Given the description of an element on the screen output the (x, y) to click on. 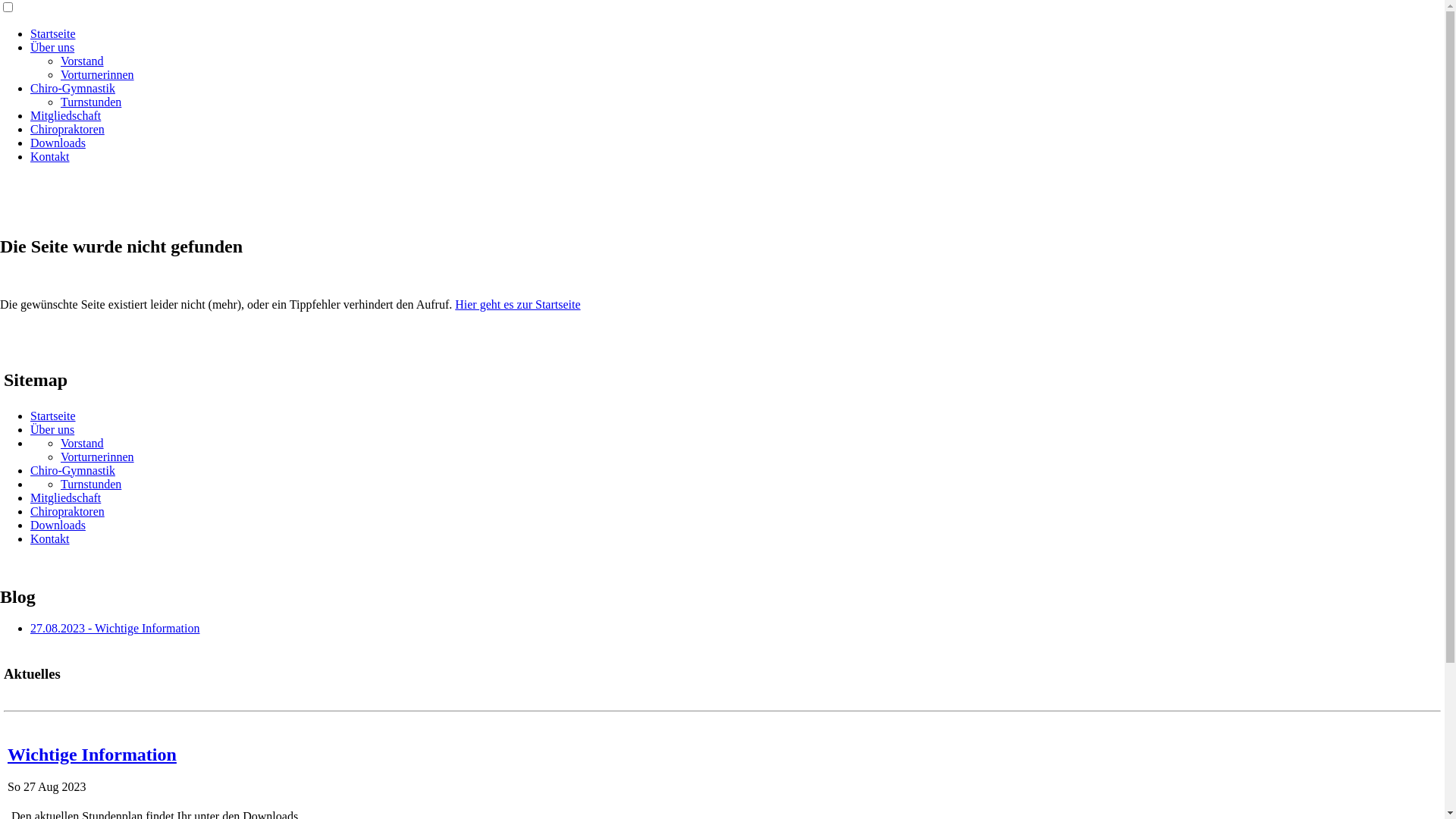
Startseite Element type: text (52, 33)
Kontakt Element type: text (49, 538)
Vorturnerinnen Element type: text (97, 74)
Startseite Element type: text (52, 415)
27.08.2023 - Wichtige Information Element type: text (114, 627)
Chiro-Gymnastik Element type: text (72, 87)
Vorturnerinnen Element type: text (97, 456)
Turnstunden Element type: text (90, 483)
Mitgliedschaft Element type: text (65, 497)
Chiropraktoren Element type: text (67, 511)
Hier geht es zur Startseite Element type: text (517, 304)
Downloads Element type: text (57, 142)
Chiro-Gymnastik Element type: text (72, 470)
Downloads Element type: text (57, 524)
Kontakt Element type: text (49, 156)
Wichtige Information Element type: text (722, 768)
Vorstand Element type: text (81, 442)
Chiropraktoren Element type: text (67, 128)
Vorstand Element type: text (81, 60)
Turnstunden Element type: text (90, 101)
Mitgliedschaft Element type: text (65, 115)
